Given the description of an element on the screen output the (x, y) to click on. 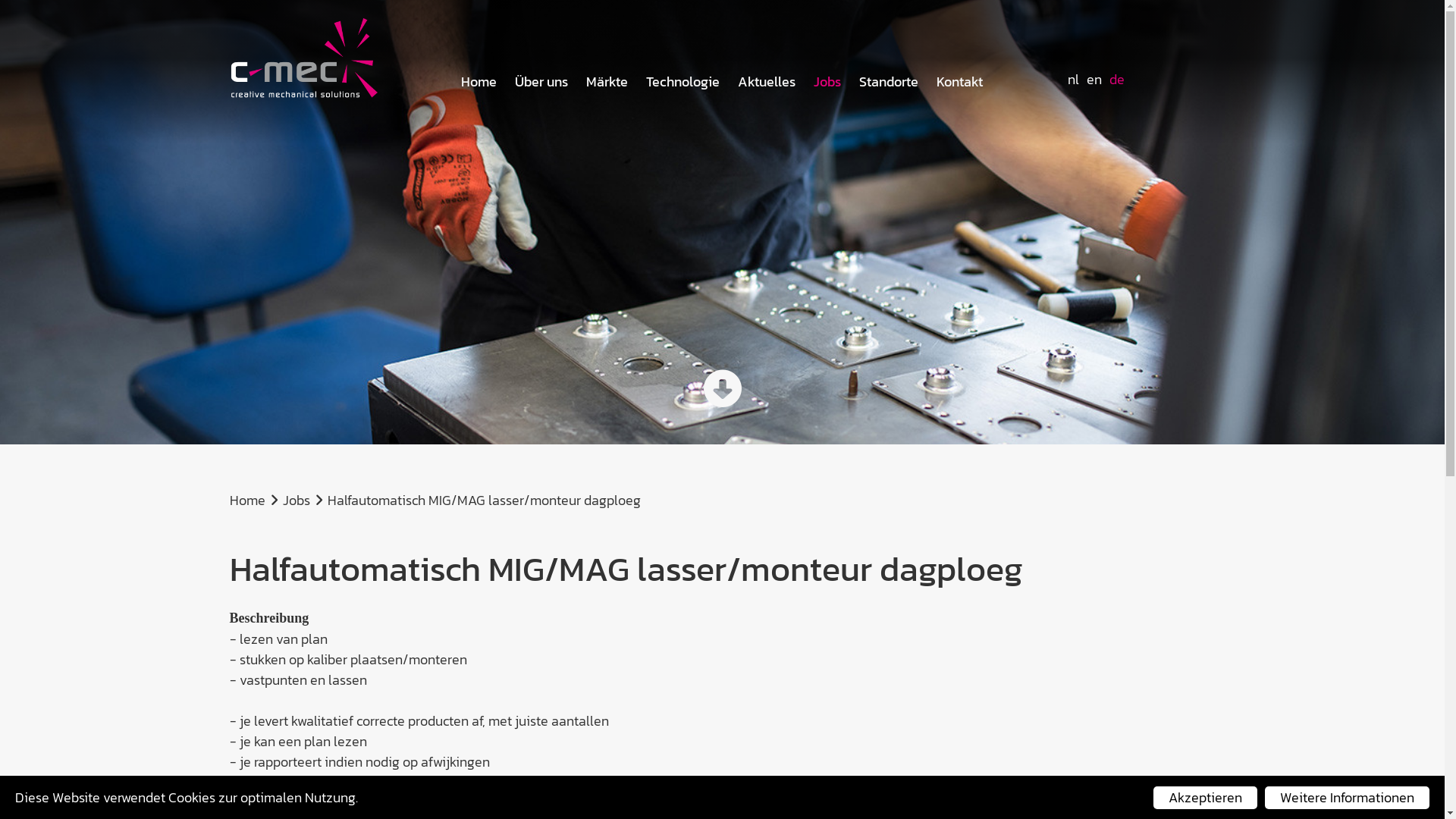
nl Element type: text (1073, 79)
Weitere Informationen Element type: text (1346, 797)
Halfautomatisch MIG/MAG lasser/monteur dagploeg Element type: text (483, 499)
Home Element type: text (246, 499)
de Element type: text (1116, 79)
Home Element type: text (478, 82)
Standorte Element type: text (888, 82)
Jobs Element type: text (295, 499)
Jobs Element type: text (826, 82)
Technologie Element type: text (682, 82)
Kontakt Element type: text (959, 82)
Aktuelles Element type: text (766, 82)
en Element type: text (1094, 79)
Akzeptieren Element type: text (1205, 797)
